Given the description of an element on the screen output the (x, y) to click on. 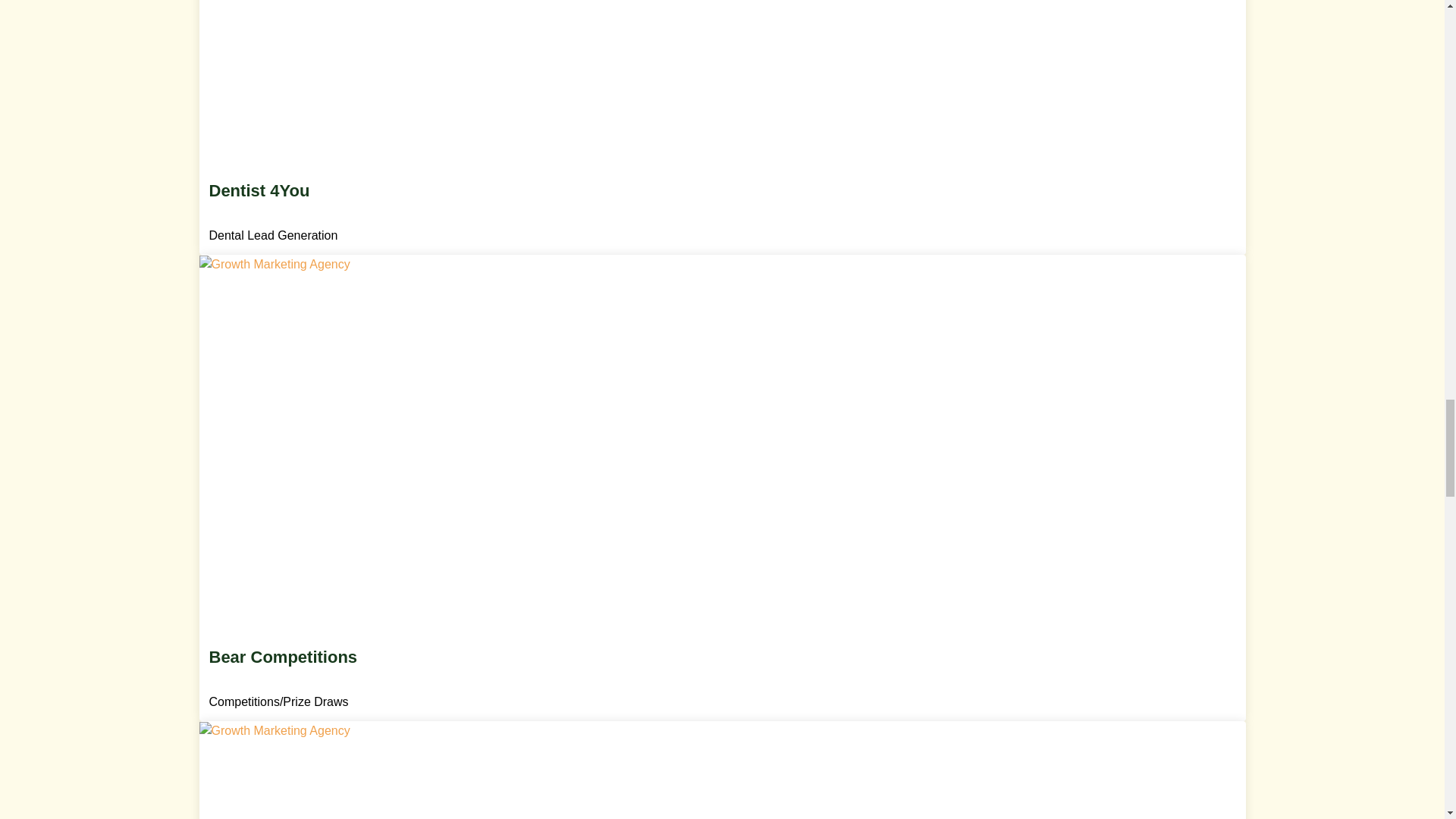
Dental Lead Generation (274, 235)
Bear Competitions (722, 677)
Dentist 4You (722, 210)
